Given the description of an element on the screen output the (x, y) to click on. 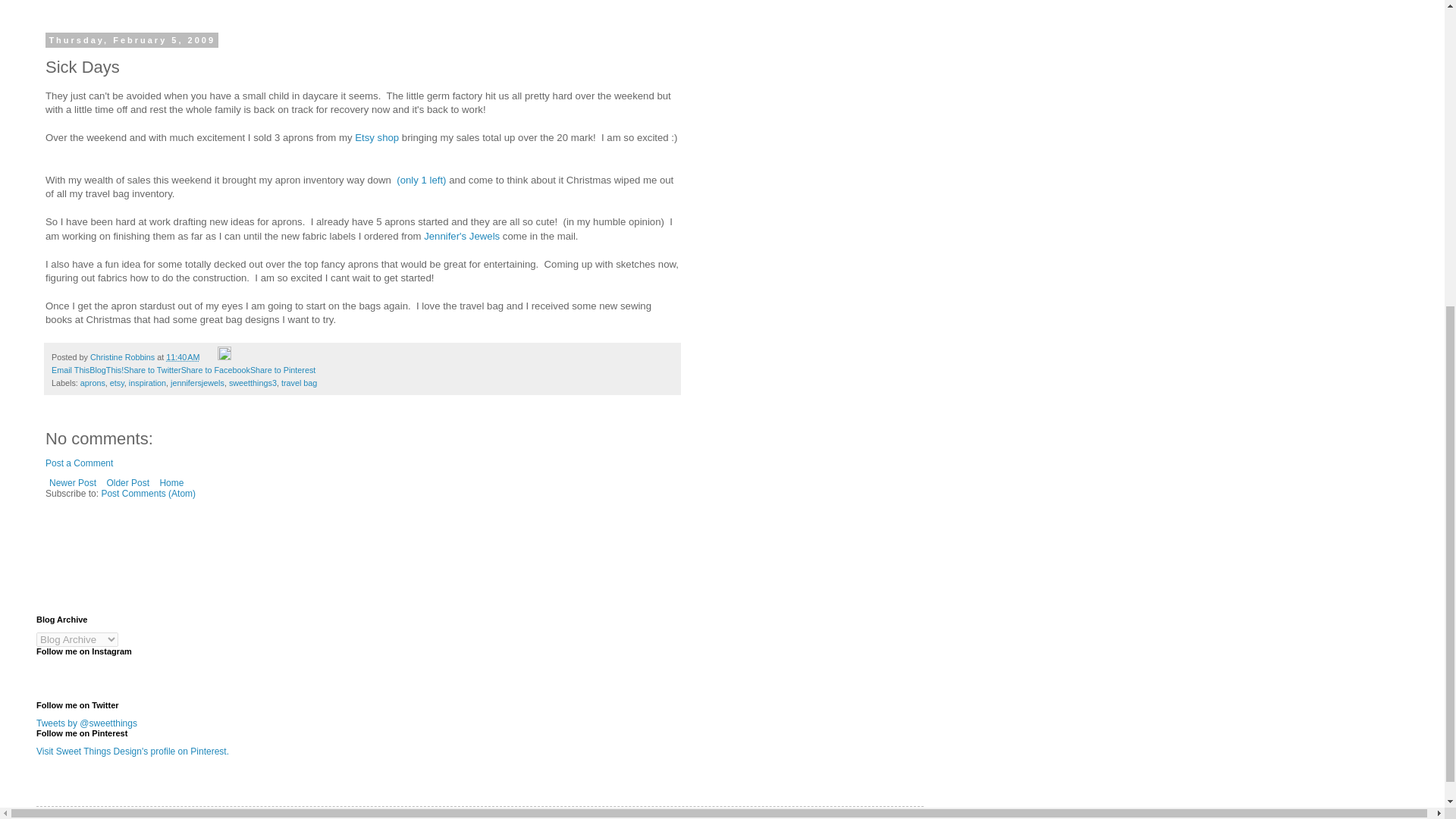
Email Post (209, 356)
aprons (92, 382)
Etsy shop (376, 137)
Newer Post (72, 483)
Older Post (126, 483)
Share to Facebook (215, 369)
Home (171, 483)
Christine Robbins (123, 356)
travel bag (299, 382)
BlogThis! (105, 369)
Share to Facebook (215, 369)
BlogThis! (105, 369)
Jennifer's Jewels (461, 235)
Blogger (534, 811)
Share to Twitter (151, 369)
